Given the description of an element on the screen output the (x, y) to click on. 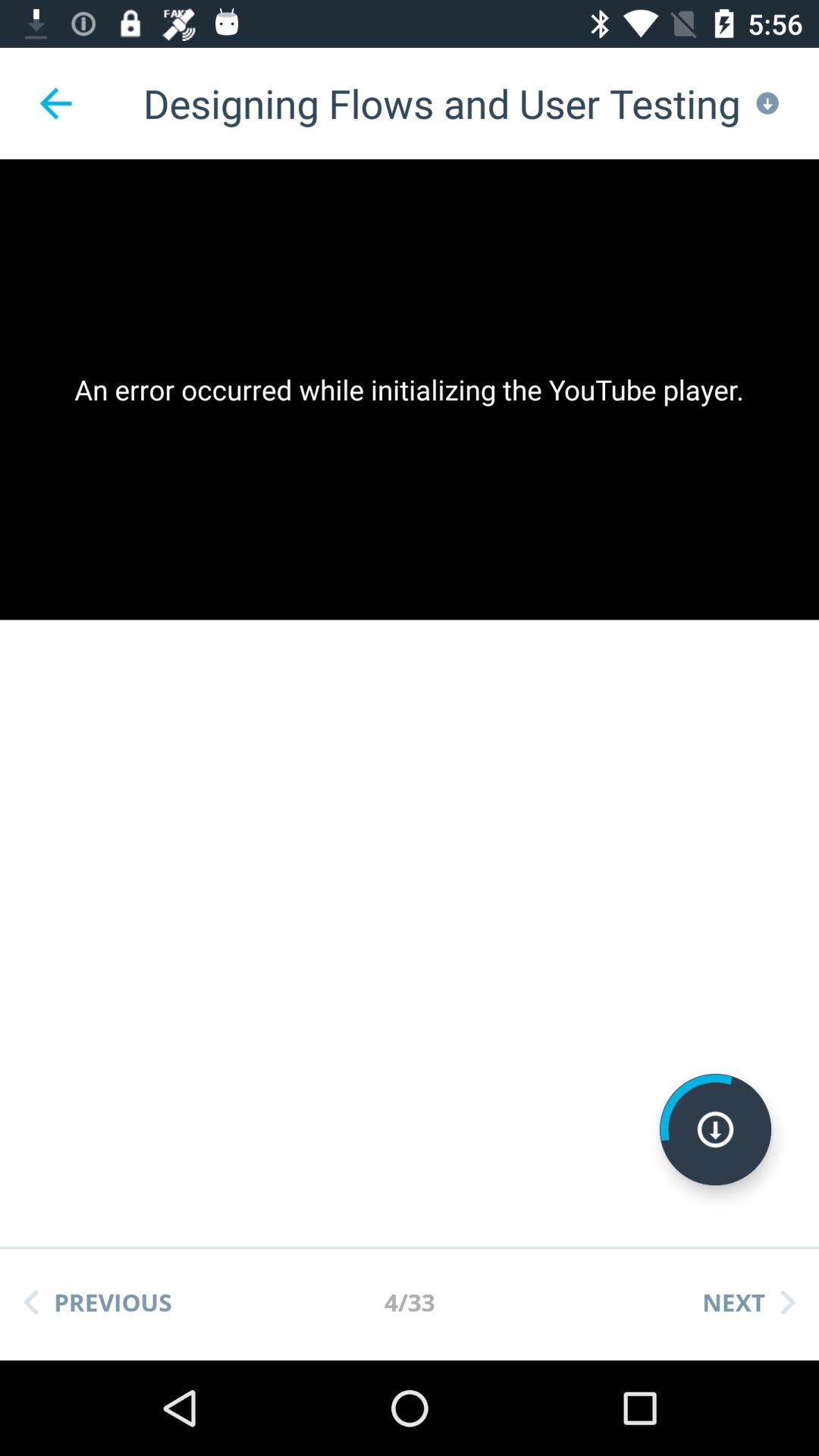
launch the item above the an error occurred app (55, 103)
